Given the description of an element on the screen output the (x, y) to click on. 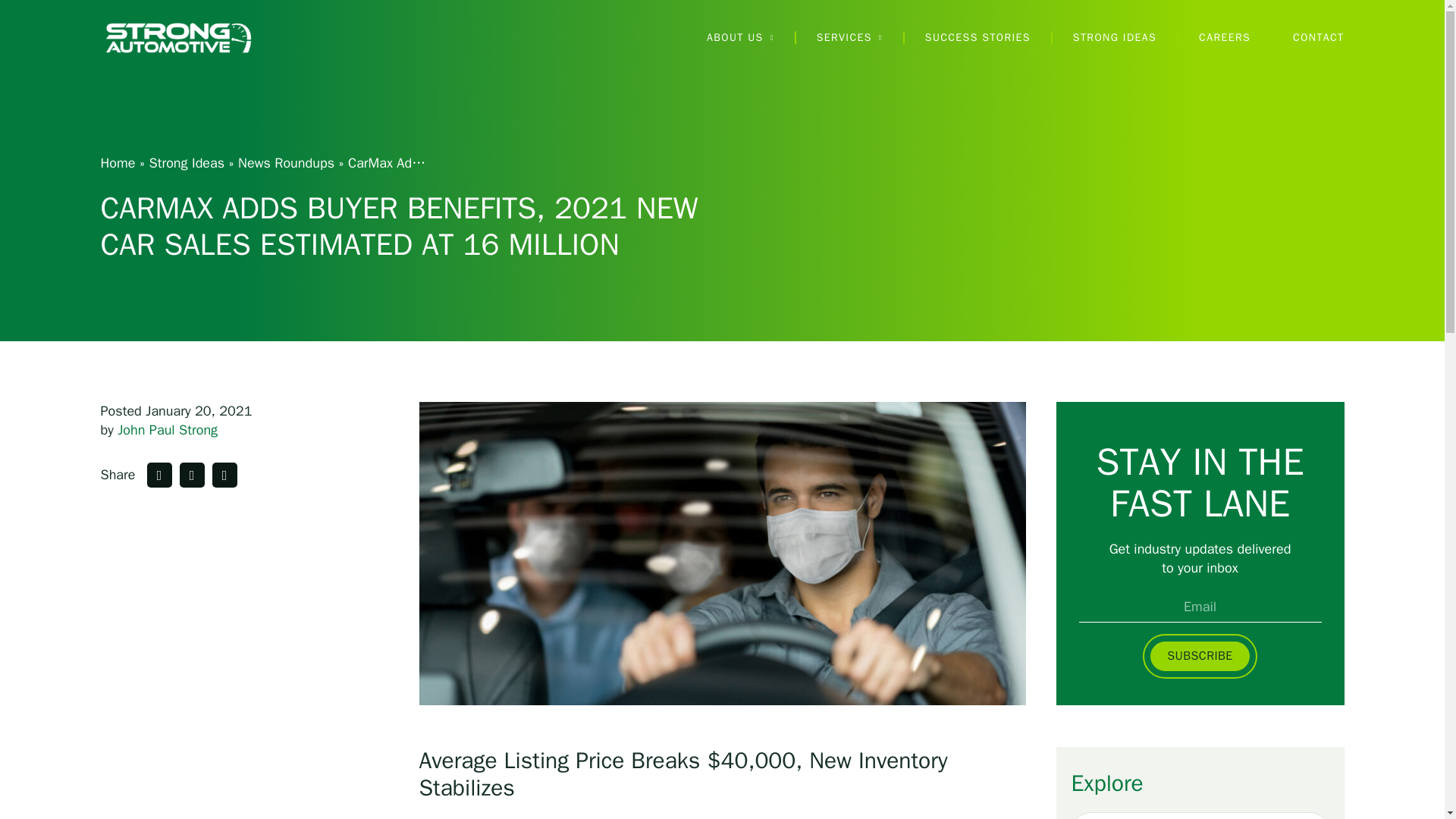
CONTACT (1318, 37)
CAREERS (1224, 37)
SUCCESS STORIES (977, 37)
STRONG IDEAS (1115, 37)
SERVICES (850, 37)
Strong Automotive (178, 37)
ABOUT US (740, 37)
